Given the description of an element on the screen output the (x, y) to click on. 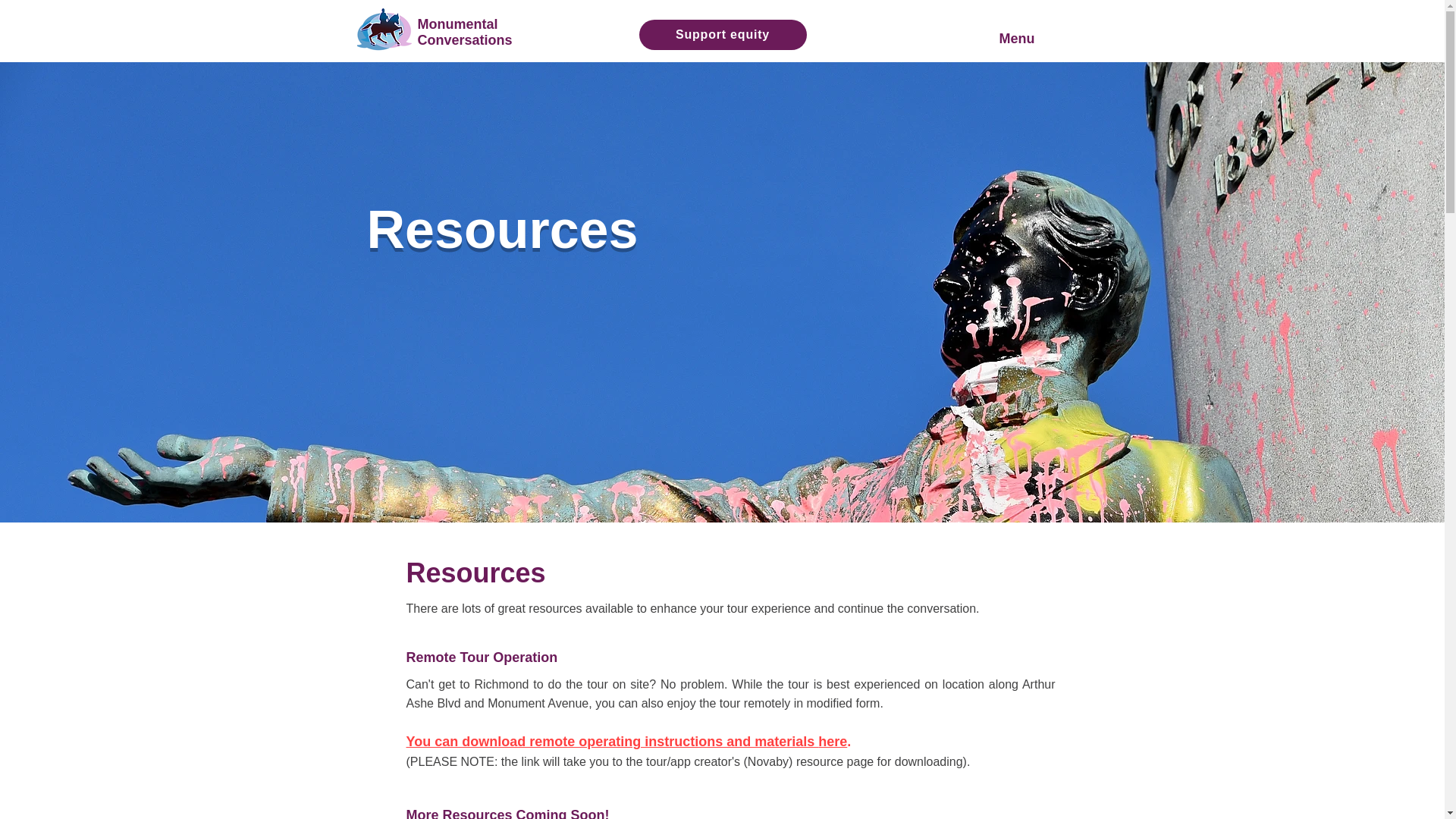
Support equity (722, 34)
Remote Tour Operation (481, 657)
More Resources Coming Soon! (508, 813)
Menu (1027, 38)
Conversations (464, 39)
Monumental (456, 23)
